Given the description of an element on the screen output the (x, y) to click on. 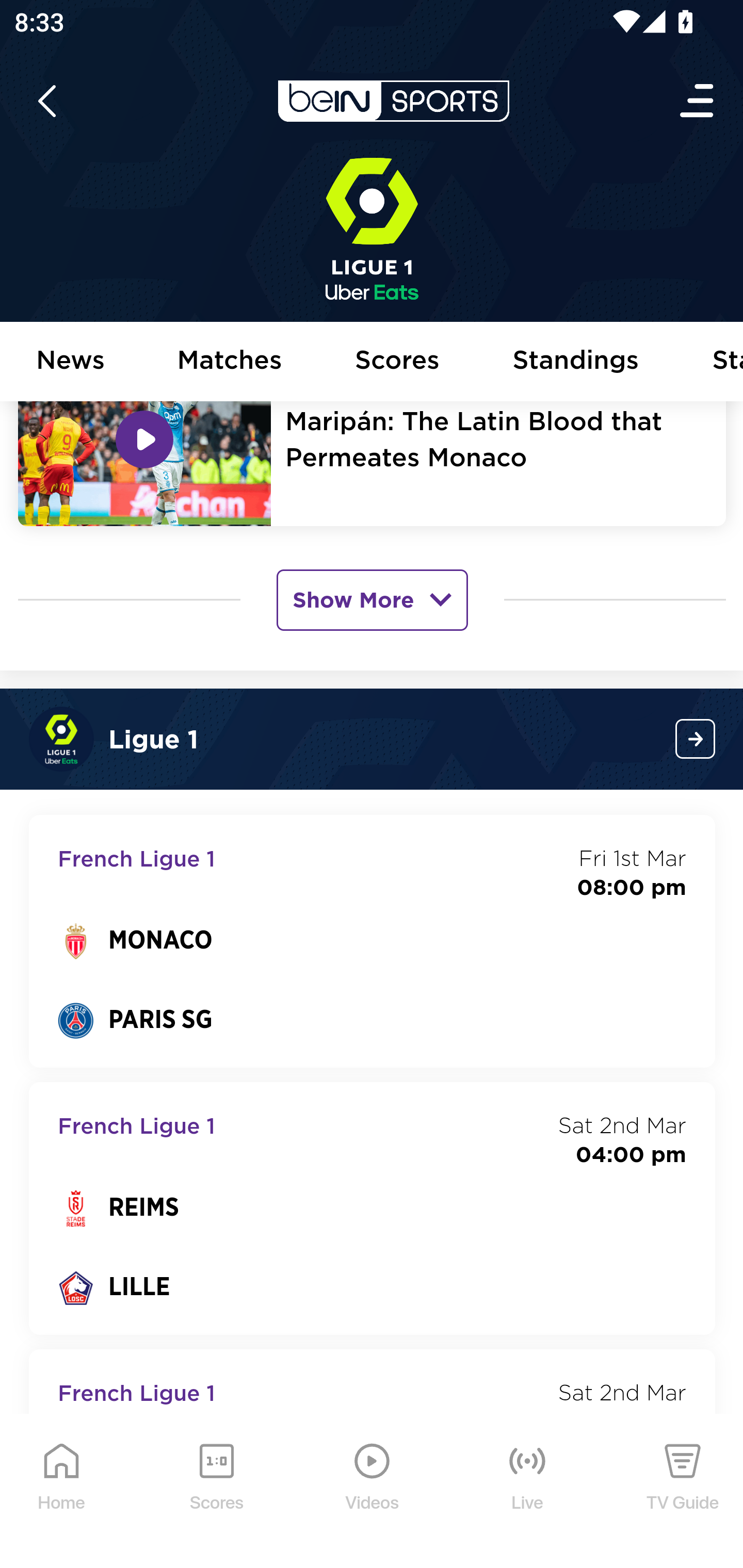
en-us?platform=mobile_android bein logo white (392, 101)
icon back (46, 101)
Open Menu Icon (697, 101)
News (70, 361)
Matches (229, 361)
Scores (397, 361)
Standings (575, 361)
Show More (371, 599)
ligue-1?platform=mobile_android (695, 739)
Home Home Icon Home (61, 1491)
Scores Scores Icon Scores (216, 1491)
Videos Videos Icon Videos (372, 1491)
TV Guide TV Guide Icon TV Guide (682, 1491)
